Given the description of an element on the screen output the (x, y) to click on. 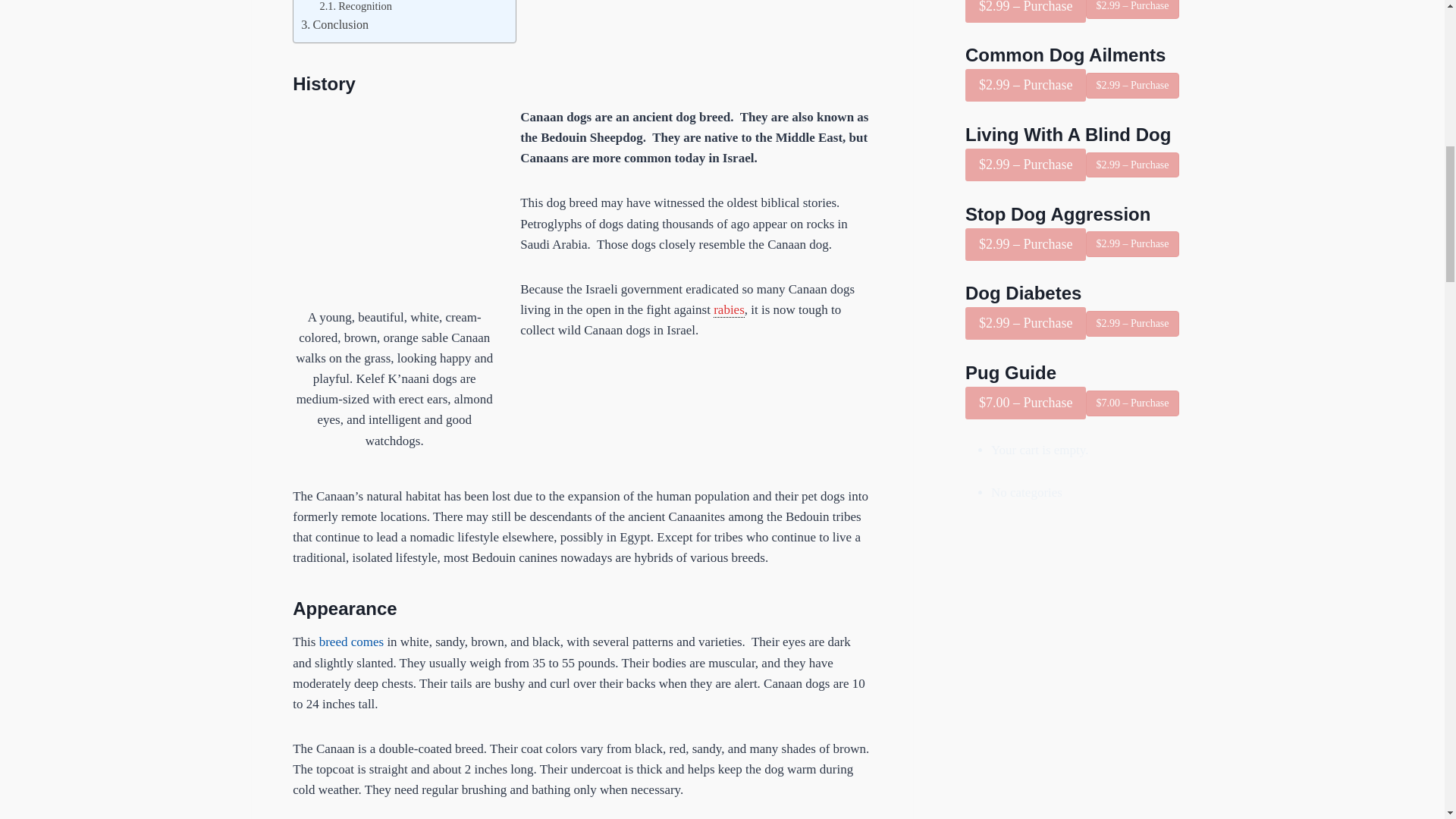
Recognition (354, 7)
Conclusion (334, 25)
Canaan Dog: An Ancient Breed 2 (394, 201)
